Given the description of an element on the screen output the (x, y) to click on. 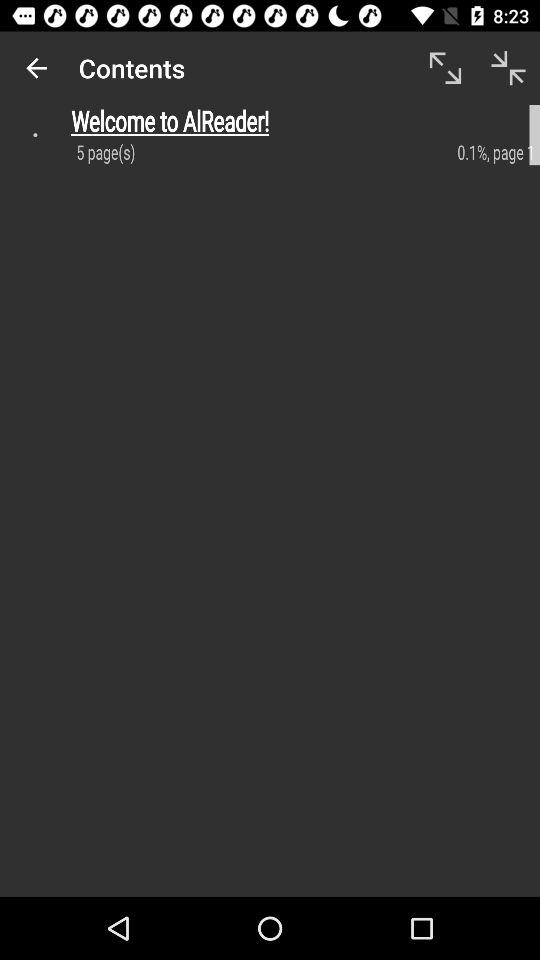
choose icon to the right of contents (444, 67)
